Given the description of an element on the screen output the (x, y) to click on. 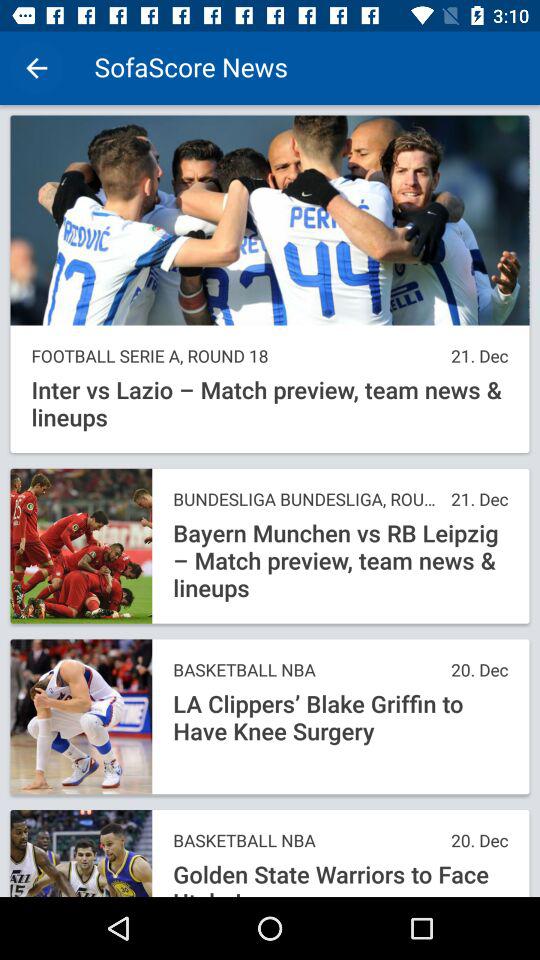
press golden state warriors (340, 878)
